Given the description of an element on the screen output the (x, y) to click on. 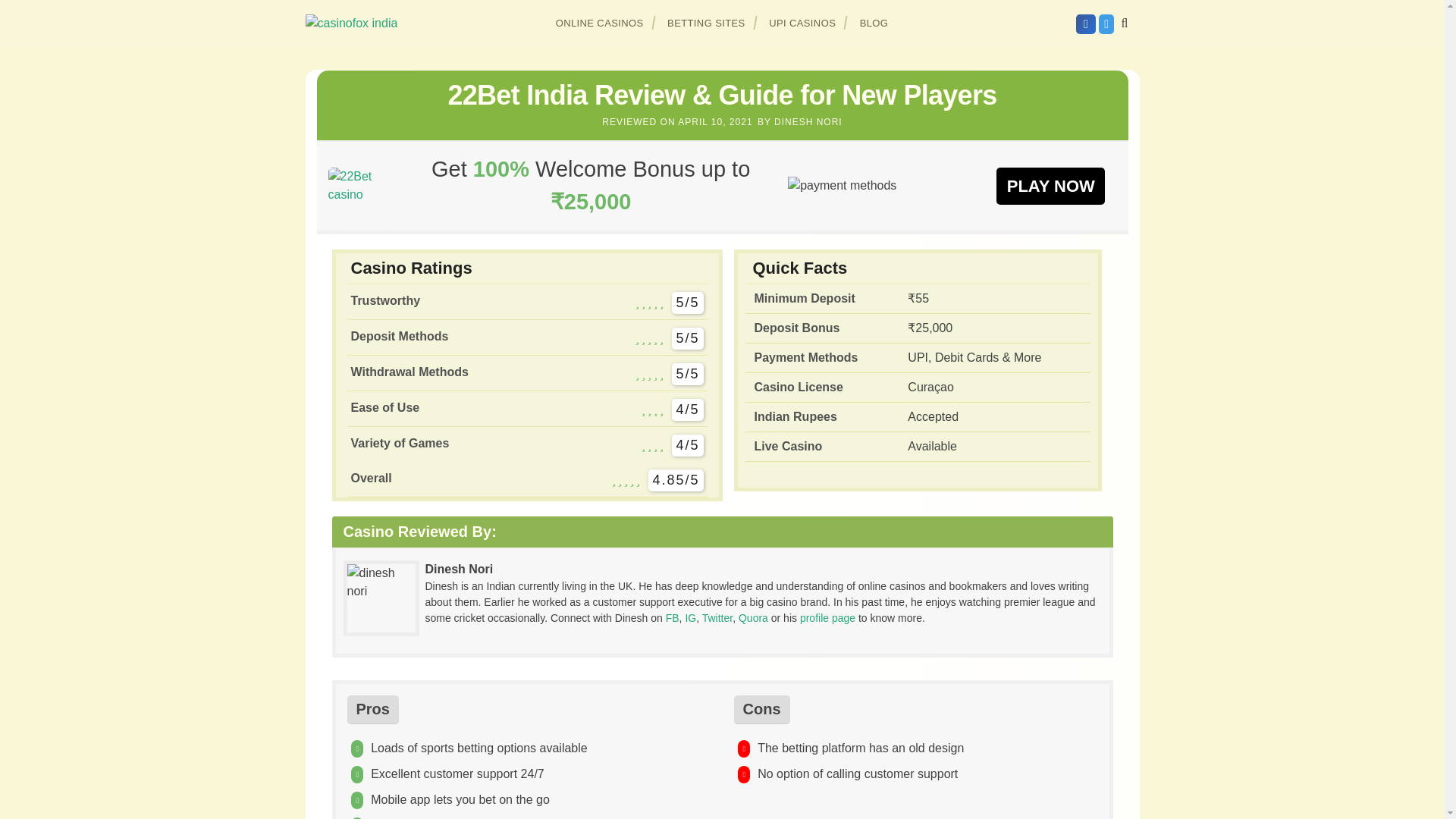
Twitter (716, 617)
IG (689, 617)
FB (672, 617)
BETTING SITES (706, 23)
profile page (827, 617)
Quora (753, 617)
UPI CASINOS (801, 23)
ONLINE CASINOS (599, 23)
BLOG (874, 23)
PLAY NOW (1050, 185)
